Given the description of an element on the screen output the (x, y) to click on. 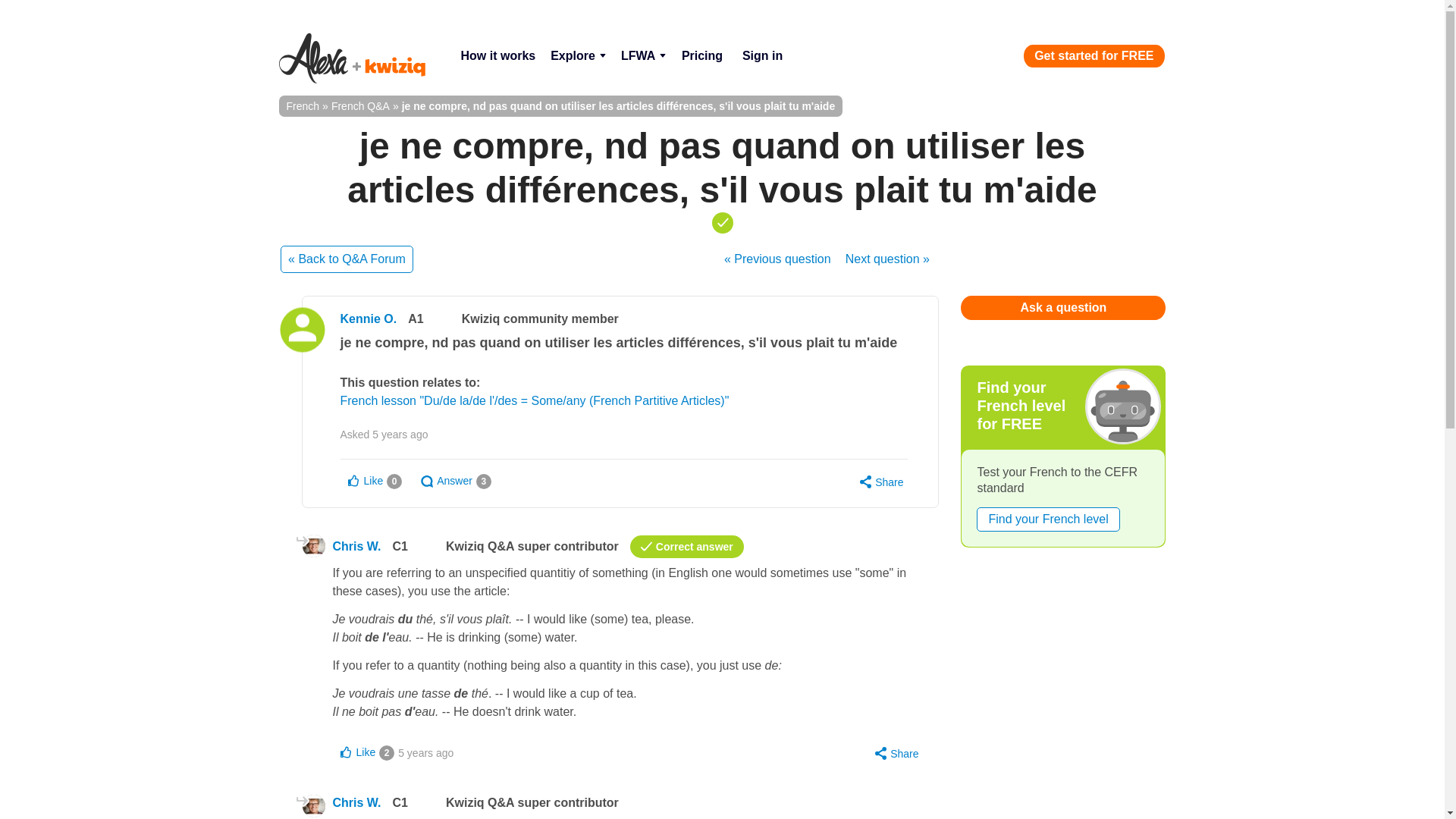
LFWA (643, 56)
How it works (497, 56)
23rd June 2019 (424, 752)
Explore (577, 56)
18th June 2019 (400, 434)
